Given the description of an element on the screen output the (x, y) to click on. 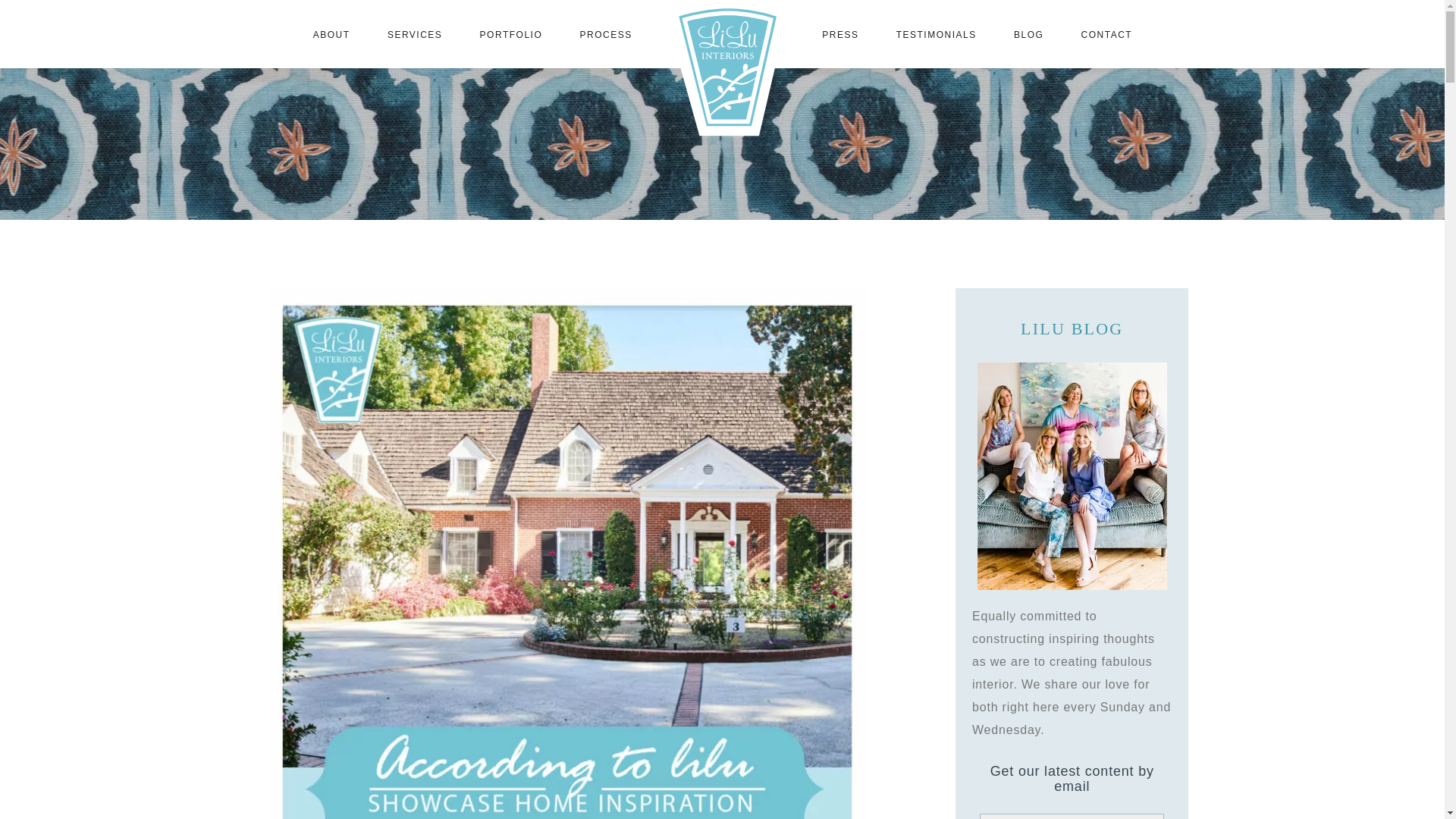
PROCESS (604, 33)
BLOG (1028, 33)
SERVICES (414, 33)
ABOUT (331, 33)
CONTACT (1107, 33)
PRESS (840, 33)
TESTIMONIALS (935, 33)
PORTFOLIO (511, 33)
